Given the description of an element on the screen output the (x, y) to click on. 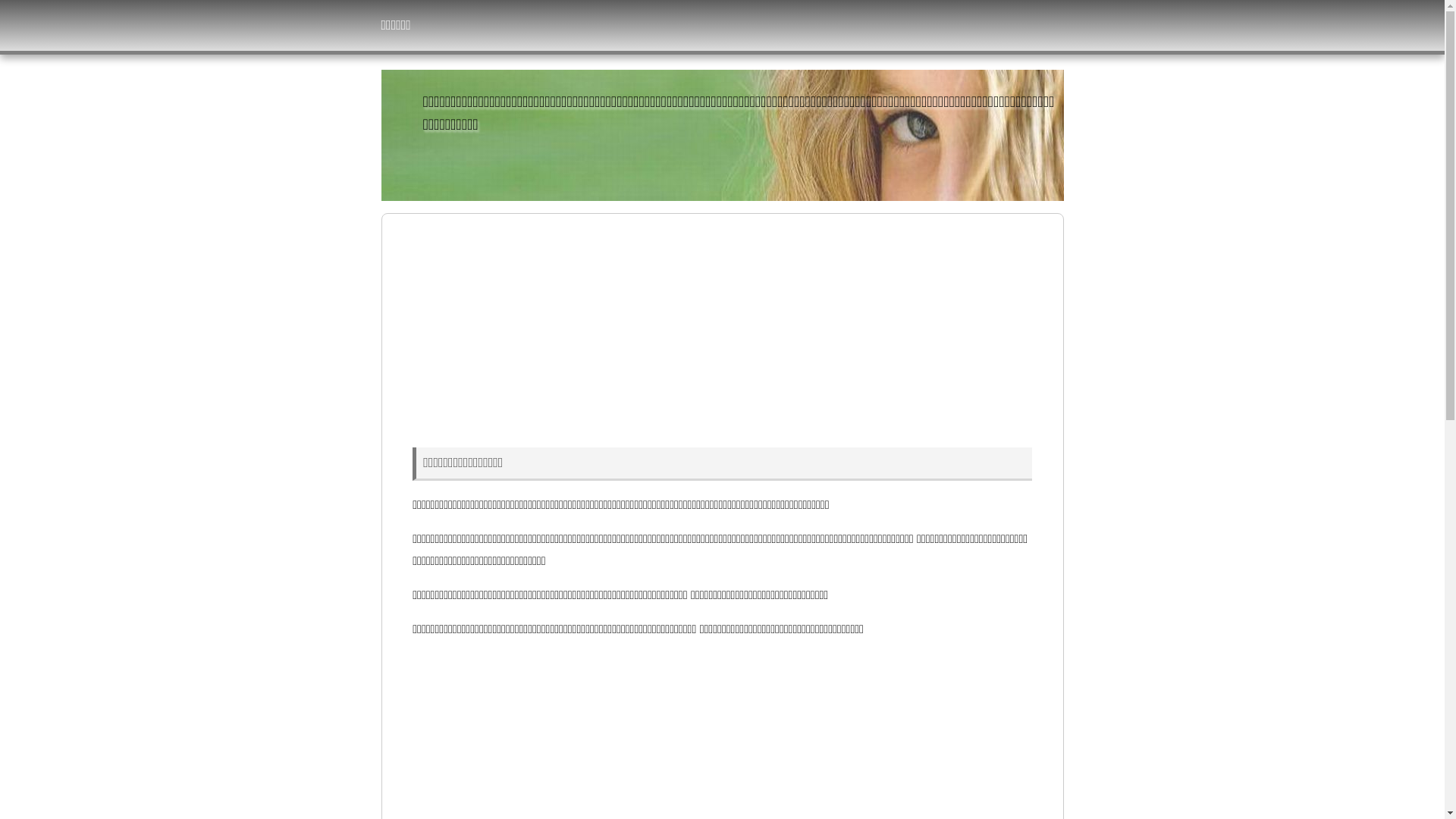
Advertisement Element type: hover (722, 327)
